Given the description of an element on the screen output the (x, y) to click on. 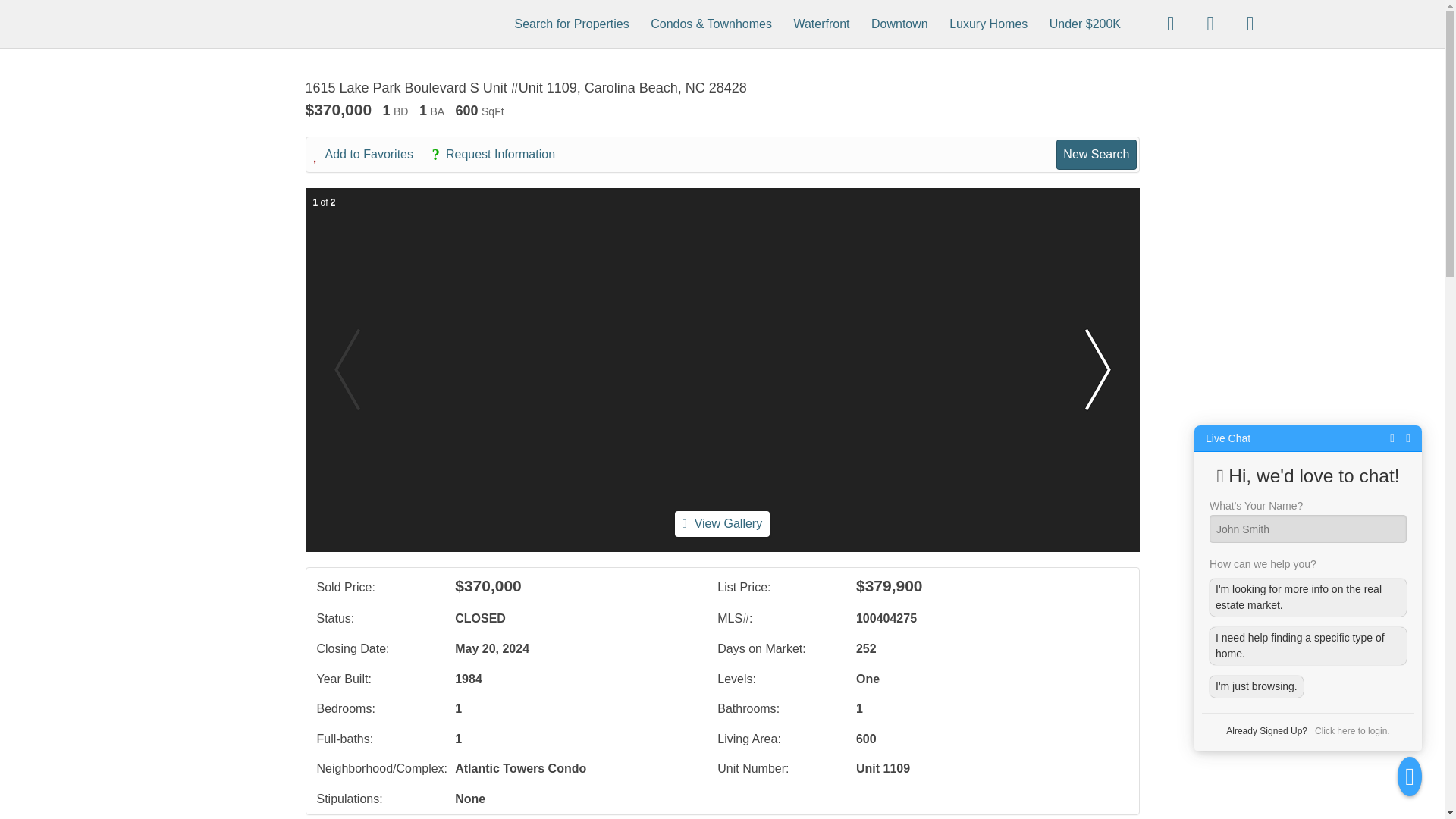
New Search (1096, 154)
Downtown (899, 23)
Request Information (500, 154)
View Gallery (722, 524)
Search for Properties (571, 23)
Luxury Homes (988, 23)
View Gallery (722, 522)
Live Chat: undefined (1227, 437)
Add to Favorites (371, 154)
Waterfront (820, 23)
